Given the description of an element on the screen output the (x, y) to click on. 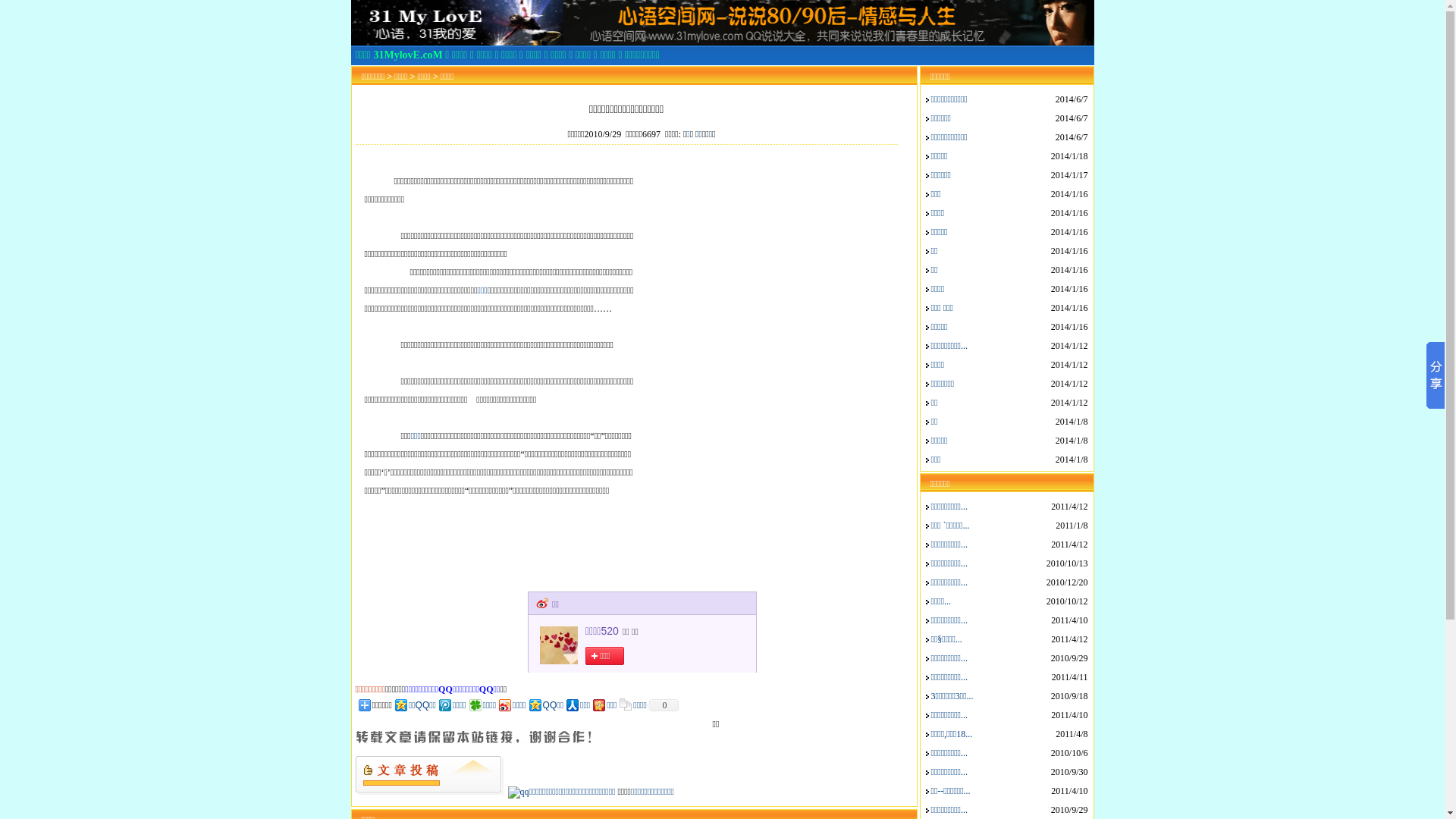
Advertisement Element type: hover (531, 721)
0 Element type: text (662, 705)
Advertisement Element type: hover (768, 472)
Advertisement Element type: hover (768, 259)
